Given the description of an element on the screen output the (x, y) to click on. 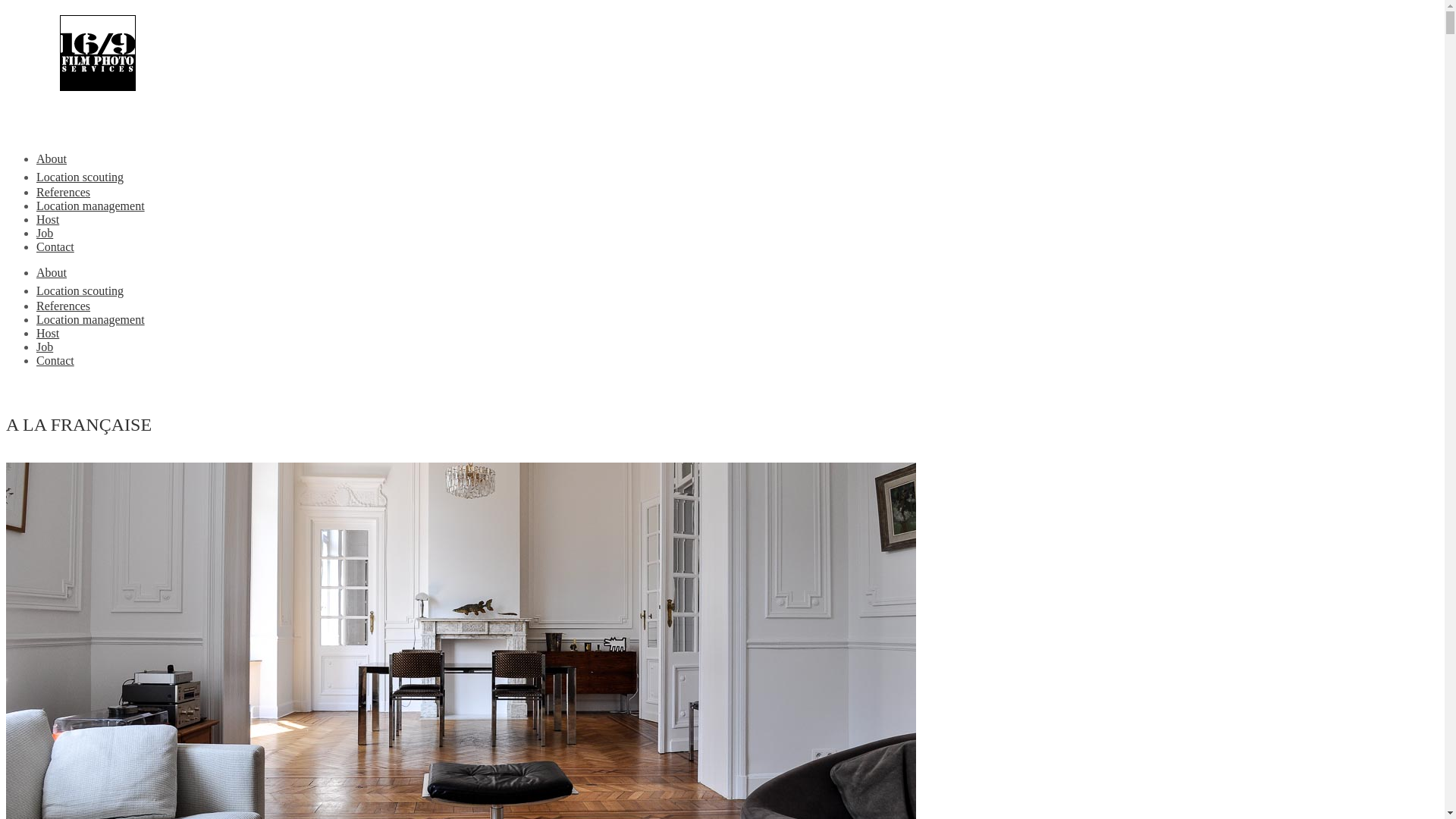
Location scouting Element type: text (79, 290)
Contact Element type: text (55, 360)
About Element type: text (51, 158)
Host Element type: text (47, 332)
About Element type: text (51, 272)
Location scouting Element type: text (79, 176)
Job Element type: text (44, 346)
References Element type: text (63, 191)
References Element type: text (63, 305)
Host Element type: text (47, 219)
Location management Element type: text (90, 319)
Location management Element type: text (90, 205)
Contact Element type: text (55, 246)
Job Element type: text (44, 232)
